Given the description of an element on the screen output the (x, y) to click on. 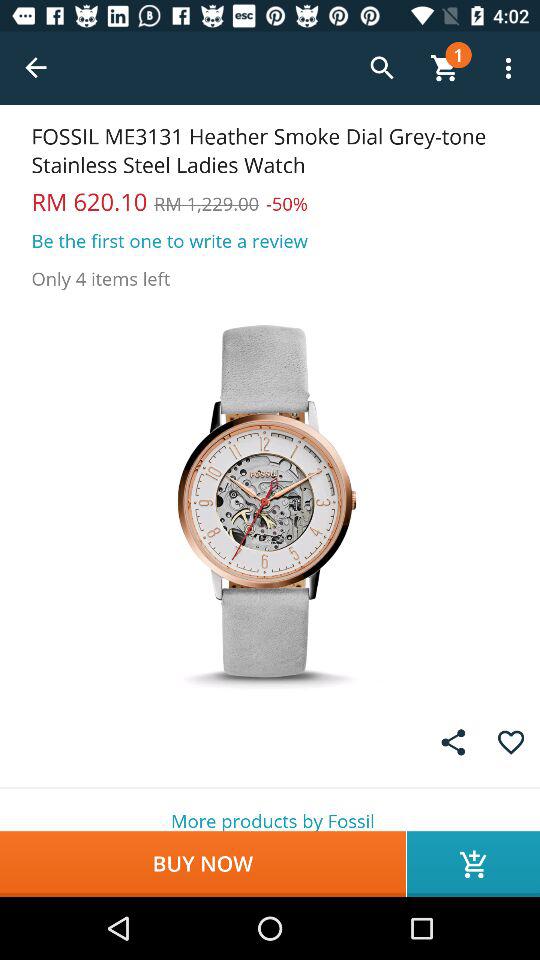
swipe to the buy now icon (202, 863)
